Given the description of an element on the screen output the (x, y) to click on. 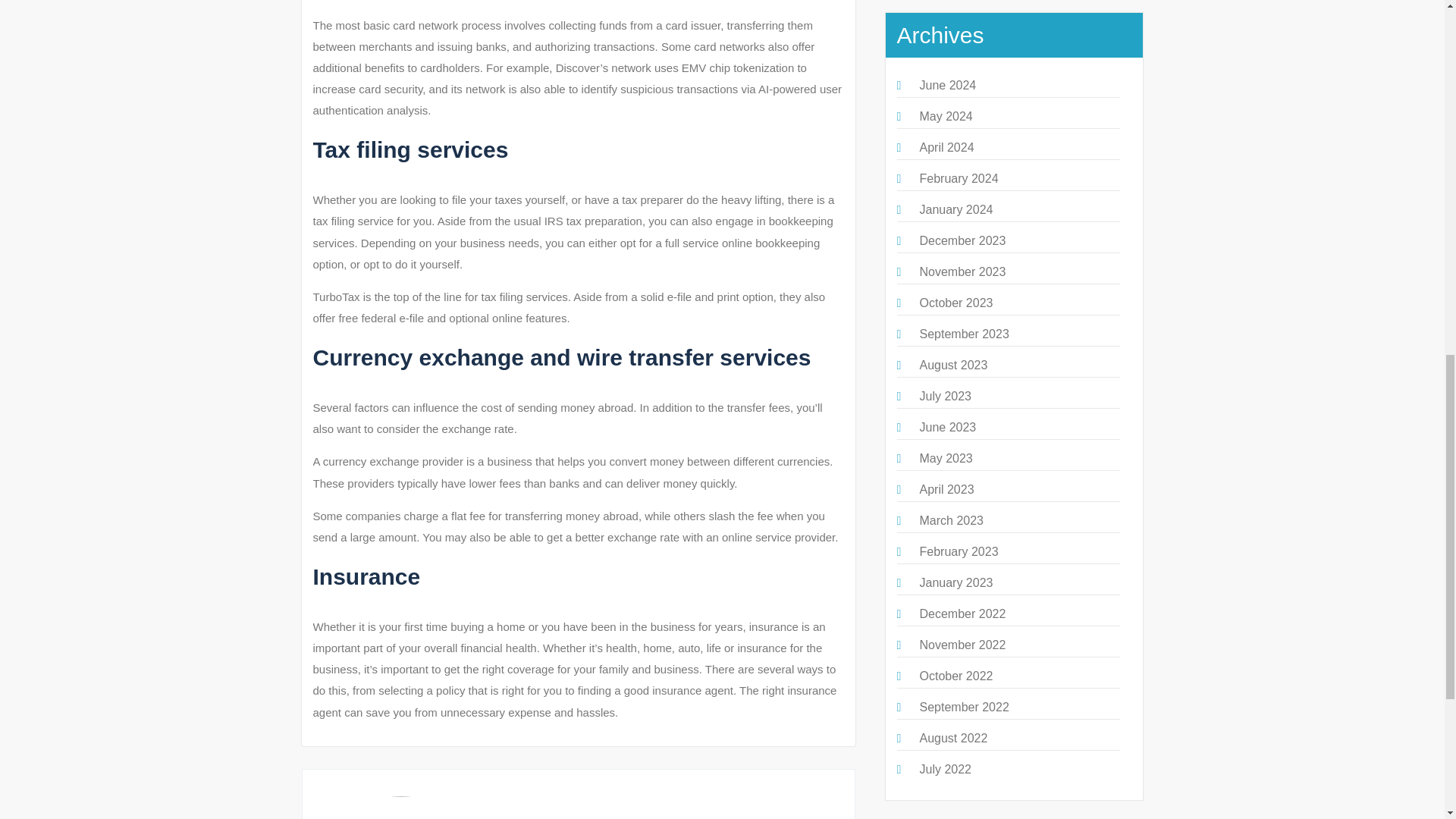
February 2023 (957, 551)
June 2023 (946, 427)
November 2023 (962, 271)
January 2023 (955, 582)
April 2024 (946, 146)
May 2023 (945, 458)
August 2022 (952, 738)
September 2022 (963, 707)
July 2022 (944, 768)
September 2023 (963, 333)
June 2024 (946, 84)
May 2024 (945, 115)
August 2023 (952, 364)
December 2022 (962, 613)
March 2023 (951, 520)
